Given the description of an element on the screen output the (x, y) to click on. 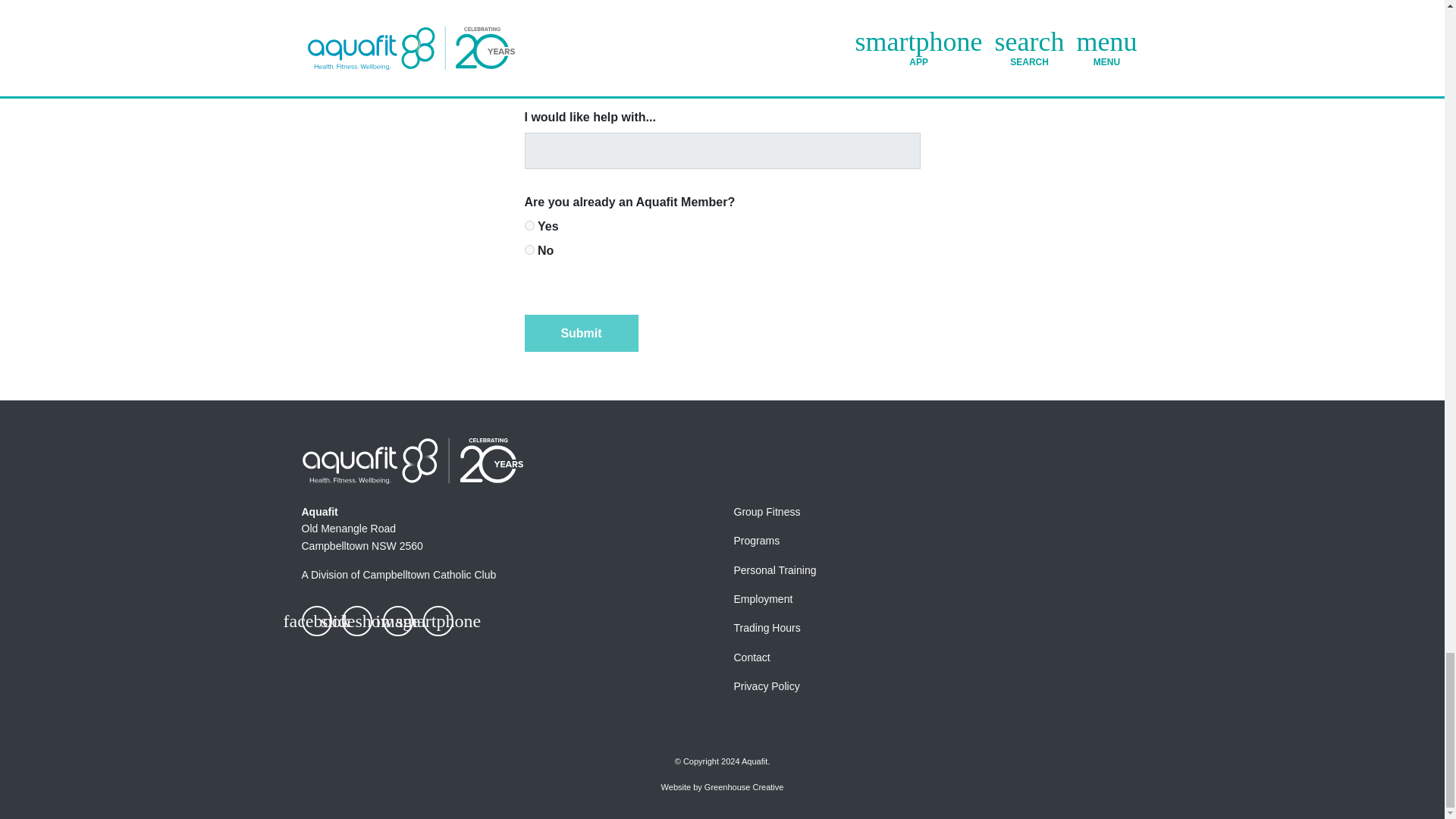
Yes (529, 225)
Privacy Policy (766, 686)
Submit (581, 332)
Group Fitness (766, 511)
slideshow (357, 621)
Campbelltown Catholic Club (429, 574)
image (397, 621)
Submit (581, 332)
Trading Hours (766, 627)
Sunday (529, 67)
